Given the description of an element on the screen output the (x, y) to click on. 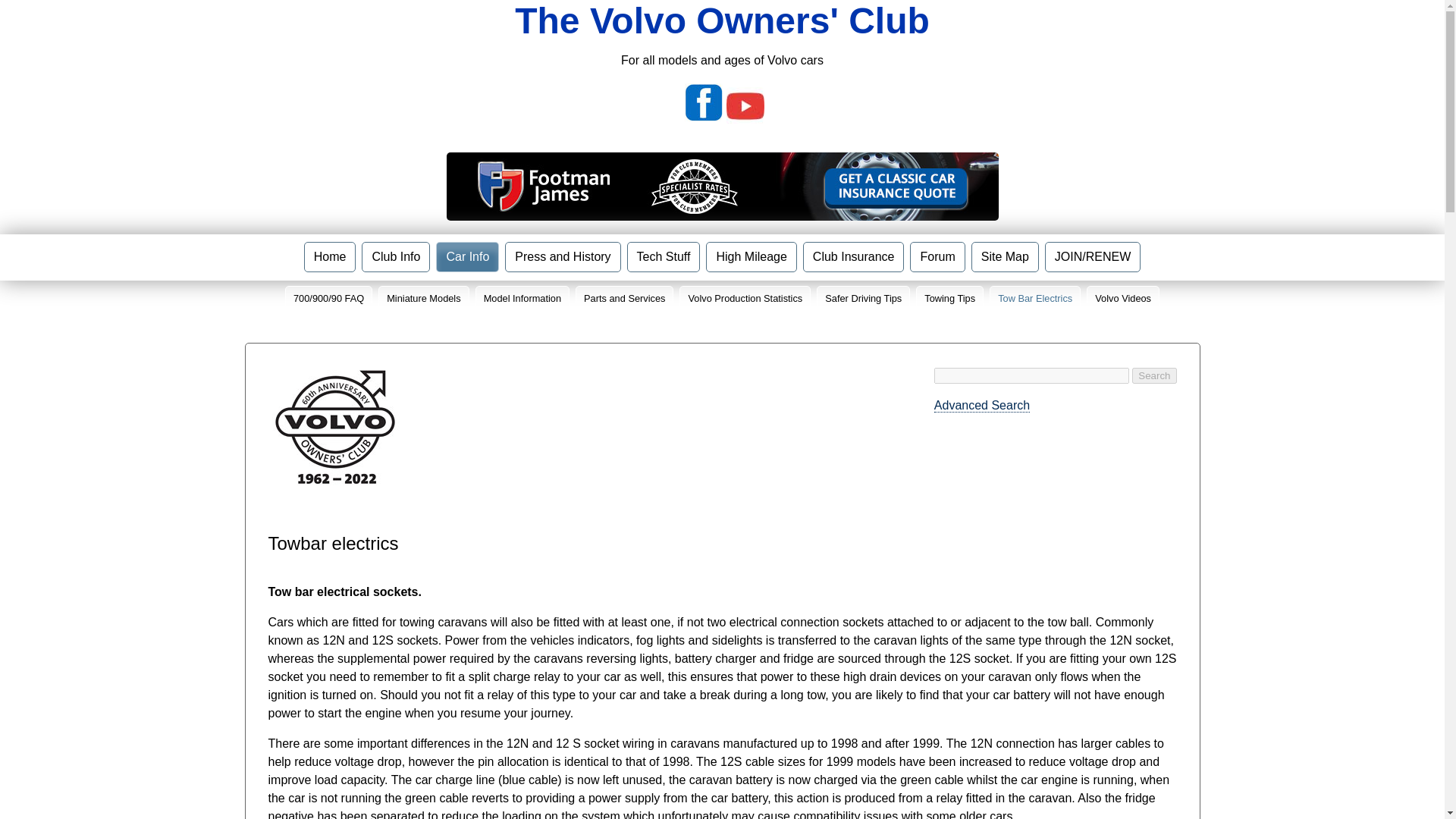
Model Information (522, 298)
Volvo Production Statistics (744, 298)
Parts and Services (623, 298)
Press and History (562, 256)
Club Info (395, 256)
High Mileage (751, 256)
Car Info (467, 256)
Miniature Models (423, 298)
Search (1154, 375)
Tech Stuff (663, 256)
Home (330, 256)
Safer Driving Tips (863, 298)
Towing Tips (949, 298)
Volvo Videos (1122, 298)
Tow Bar Electrics (1035, 298)
